Given the description of an element on the screen output the (x, y) to click on. 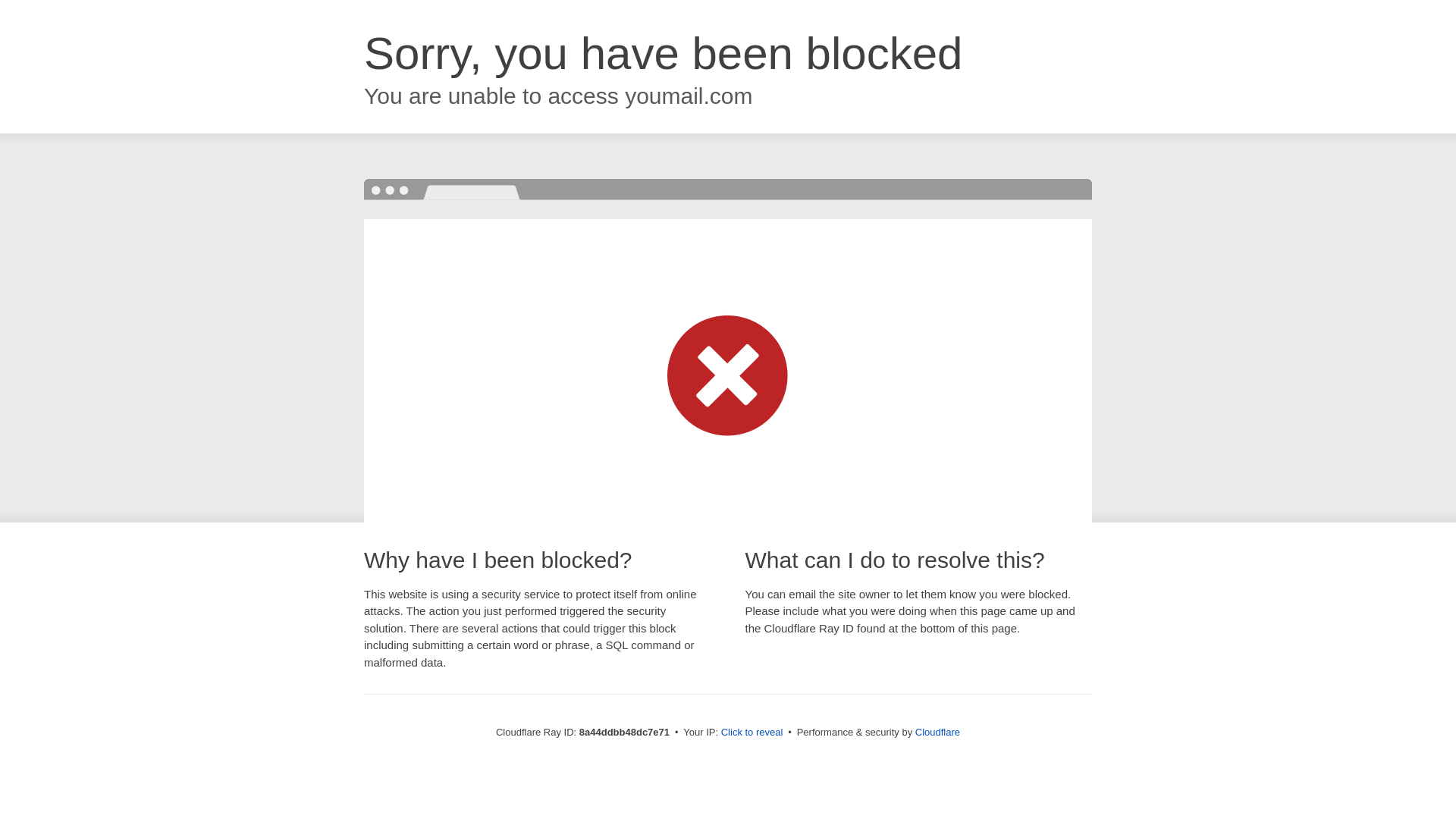
Cloudflare (937, 731)
Click to reveal (751, 732)
